Given the description of an element on the screen output the (x, y) to click on. 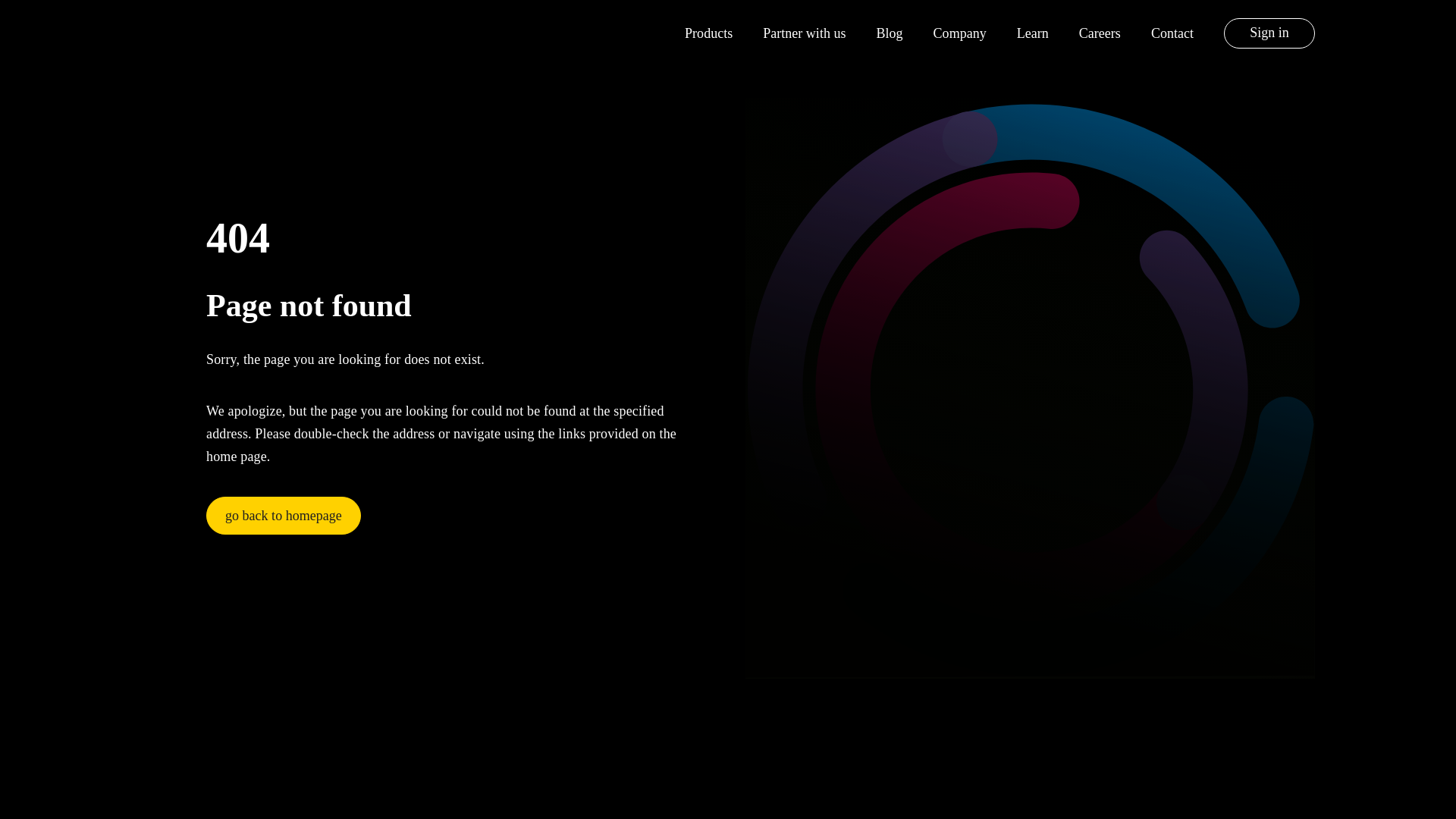
Blog (889, 32)
Partner with us (803, 32)
Careers (1099, 32)
Contact (1172, 32)
Products (708, 32)
Company (960, 32)
Sign in (1269, 33)
Learn (1032, 32)
